Given the description of an element on the screen output the (x, y) to click on. 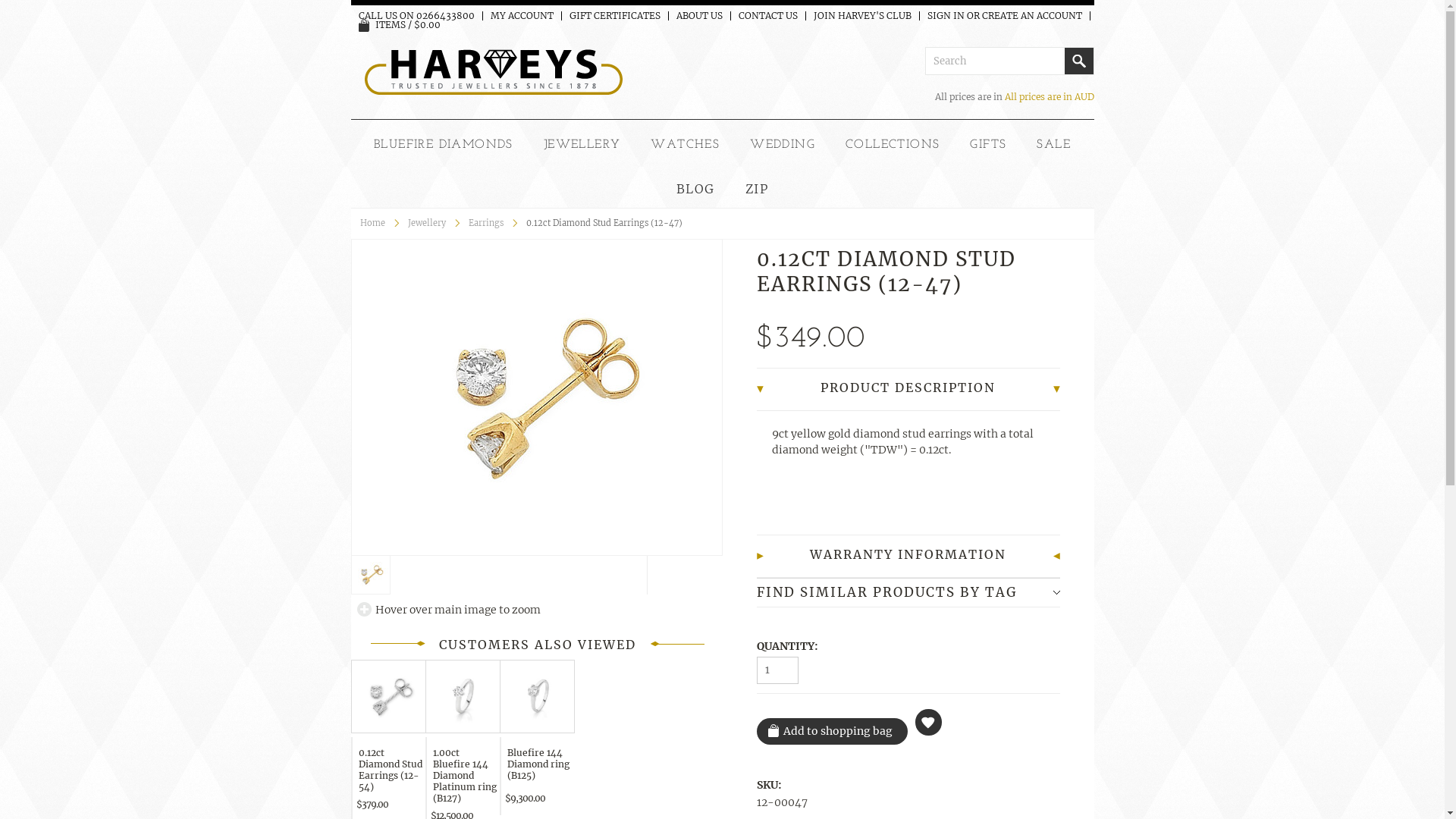
Home Element type: text (378, 222)
1.00ct Bluefire 144 Diamond Platinum ring (B127) Element type: text (464, 777)
GIFT CERTIFICATES Element type: text (613, 15)
Add to shopping bag Element type: text (831, 731)
SIGN IN Element type: text (944, 15)
Earrings Element type: text (492, 222)
COLLECTIONS Element type: text (892, 144)
BLOG Element type: text (695, 188)
Search Element type: hover (1078, 60)
All prices are in AUD Element type: text (1048, 96)
0 Element type: text (369, 574)
SALE Element type: text (1053, 144)
CREATE AN ACCOUNT Element type: text (1031, 15)
JOIN HARVEY'S CLUB Element type: text (861, 15)
0.12ct Diamond Stud Earrings (12-54) Element type: text (390, 772)
Image 1 Element type: hover (536, 397)
JEWELLERY Element type: text (582, 144)
MY ACCOUNT Element type: text (520, 15)
WATCHES Element type: text (685, 144)
CONTACT US Element type: text (767, 15)
ZIP Element type: text (756, 188)
Jewellery Element type: text (433, 222)
View Cart Element type: hover (363, 25)
Bluefire 144 Diamond ring (B125) Element type: text (539, 769)
Image 1 Element type: hover (370, 574)
ABOUT US Element type: text (699, 15)
BLUEFIRE DIAMONDS Element type: text (443, 144)
 ITEMS / $0.00 Element type: text (398, 24)
WEDDING Element type: text (782, 144)
Add to Wishlist Element type: hover (927, 722)
GIFTS Element type: text (987, 144)
